Given the description of an element on the screen output the (x, y) to click on. 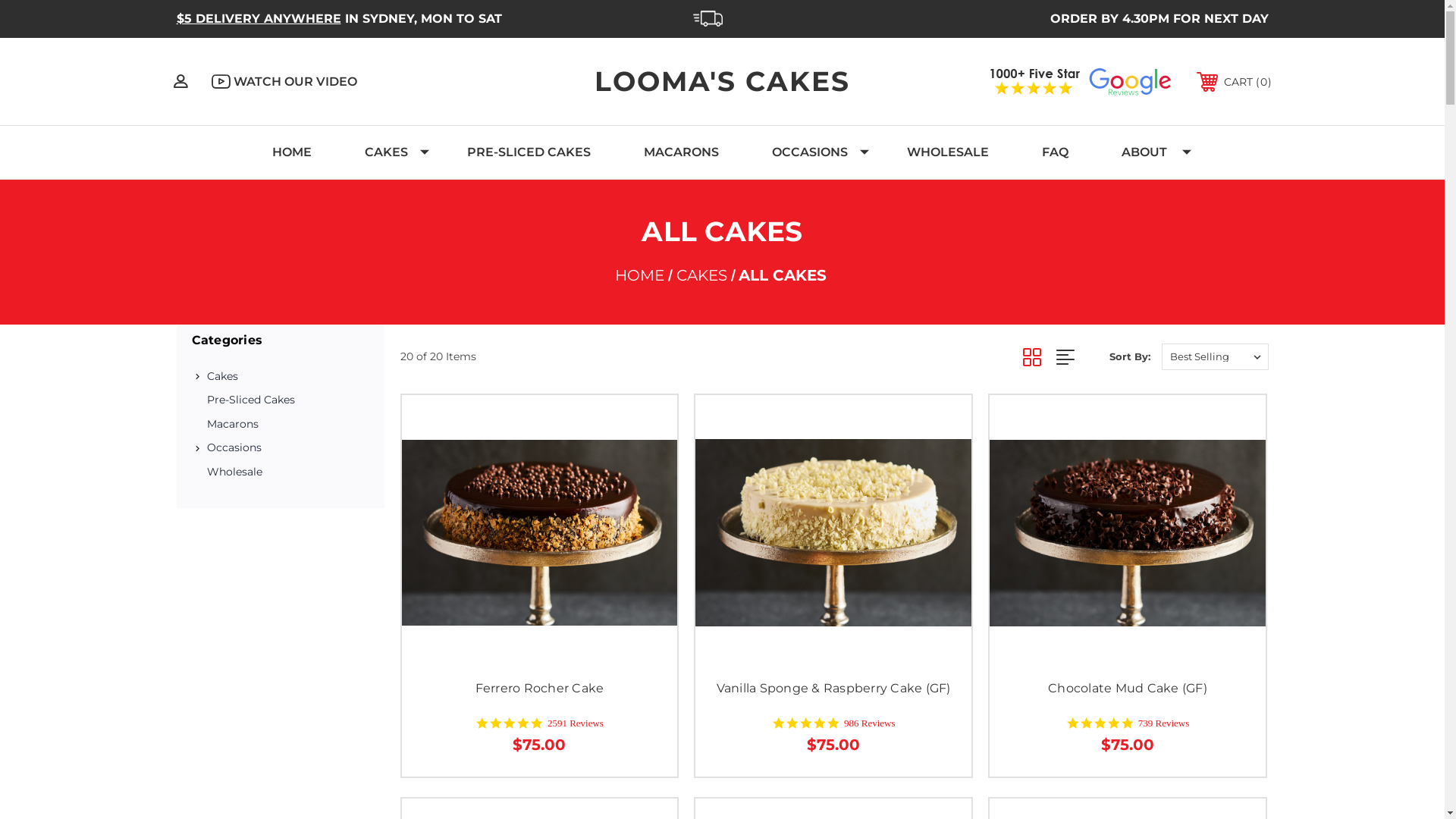
1000+ Reviews Element type: hover (1079, 81)
FAQ Element type: text (1054, 151)
986 Reviews Element type: text (869, 723)
PRE-SLICED CAKES Element type: text (527, 151)
2591 Reviews Element type: text (575, 723)
CAKES Element type: text (701, 275)
Chocolate Mud Cake (GF) Element type: text (1127, 687)
Occasions Element type: text (286, 448)
HOME Element type: text (639, 275)
ALL CAKES Element type: text (782, 275)
Wholesale Element type: text (279, 472)
Macarons Element type: text (279, 424)
Ferrero Rocher Cake Element type: text (539, 687)
ORDER BY 4.30PM FOR NEXT DAY Element type: text (1158, 18)
Ferrero Rocher cake Element type: hover (539, 531)
Vanilla Sponge & Raspberry Cake (GF) Element type: text (833, 687)
WHOLESALE Element type: text (946, 151)
CAKES Element type: text (389, 151)
Pre-Sliced Cakes Element type: text (279, 400)
Chocolate mud cake Element type: hover (1127, 532)
OCCASIONS Element type: text (811, 151)
LOOMA'S CAKES Element type: text (721, 80)
ABOUT Element type: text (1147, 151)
739 Reviews Element type: text (1163, 723)
Cakes Element type: text (286, 376)
CART 0 Element type: text (1233, 81)
MACARONS Element type: text (681, 151)
Vanilla Sponge and Raspberry cake Element type: hover (833, 532)
WATCH OUR VIDEO Element type: text (283, 81)
HOME Element type: text (291, 151)
